Given the description of an element on the screen output the (x, y) to click on. 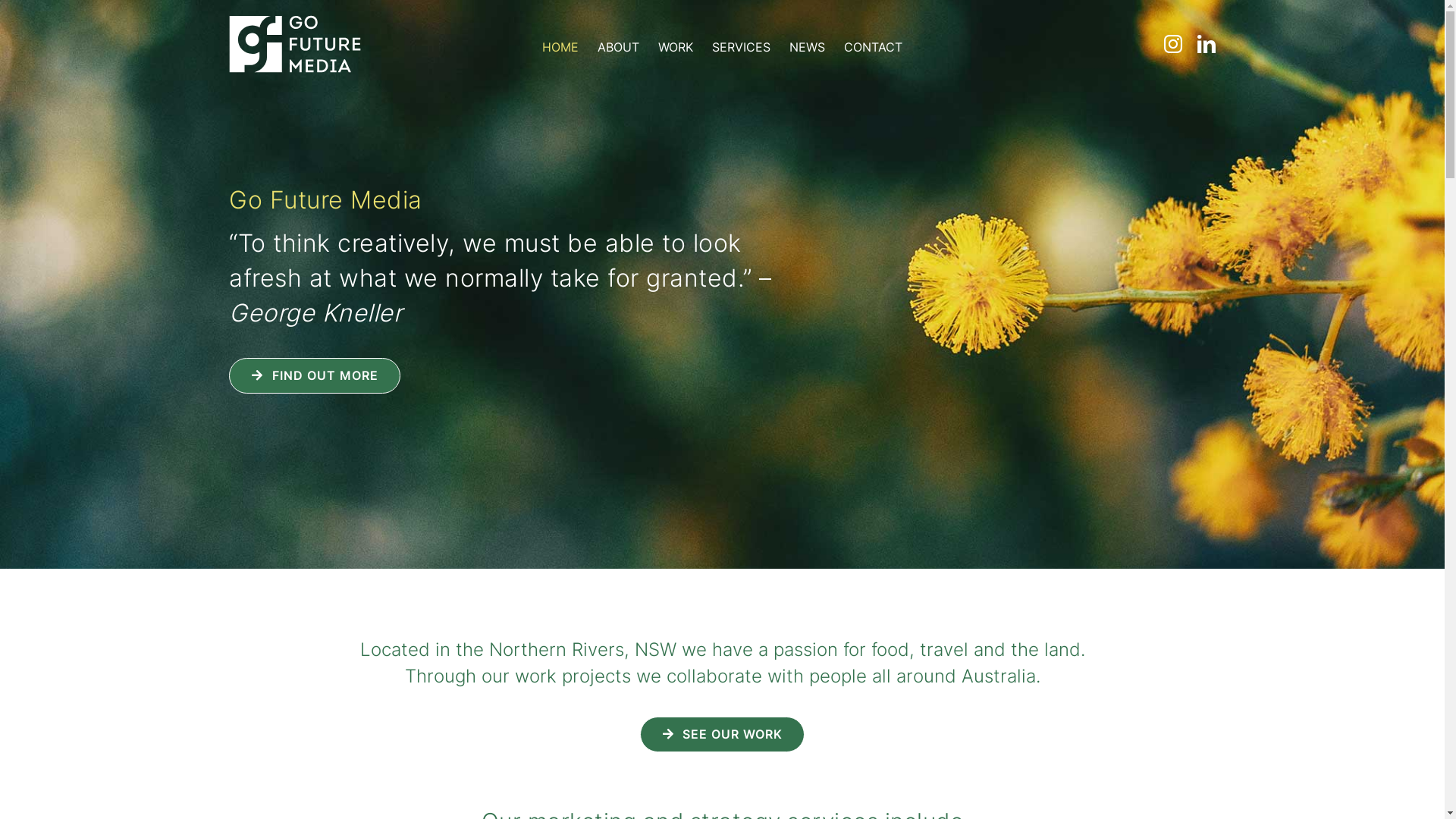
HOME Element type: text (560, 47)
CONTACT Element type: text (873, 47)
SERVICES Element type: text (741, 47)
WORK Element type: text (675, 47)
FIND OUT MORE Element type: text (314, 375)
NEWS Element type: text (807, 47)
ABOUT Element type: text (618, 47)
SEE OUR WORK Element type: text (722, 734)
